Given the description of an element on the screen output the (x, y) to click on. 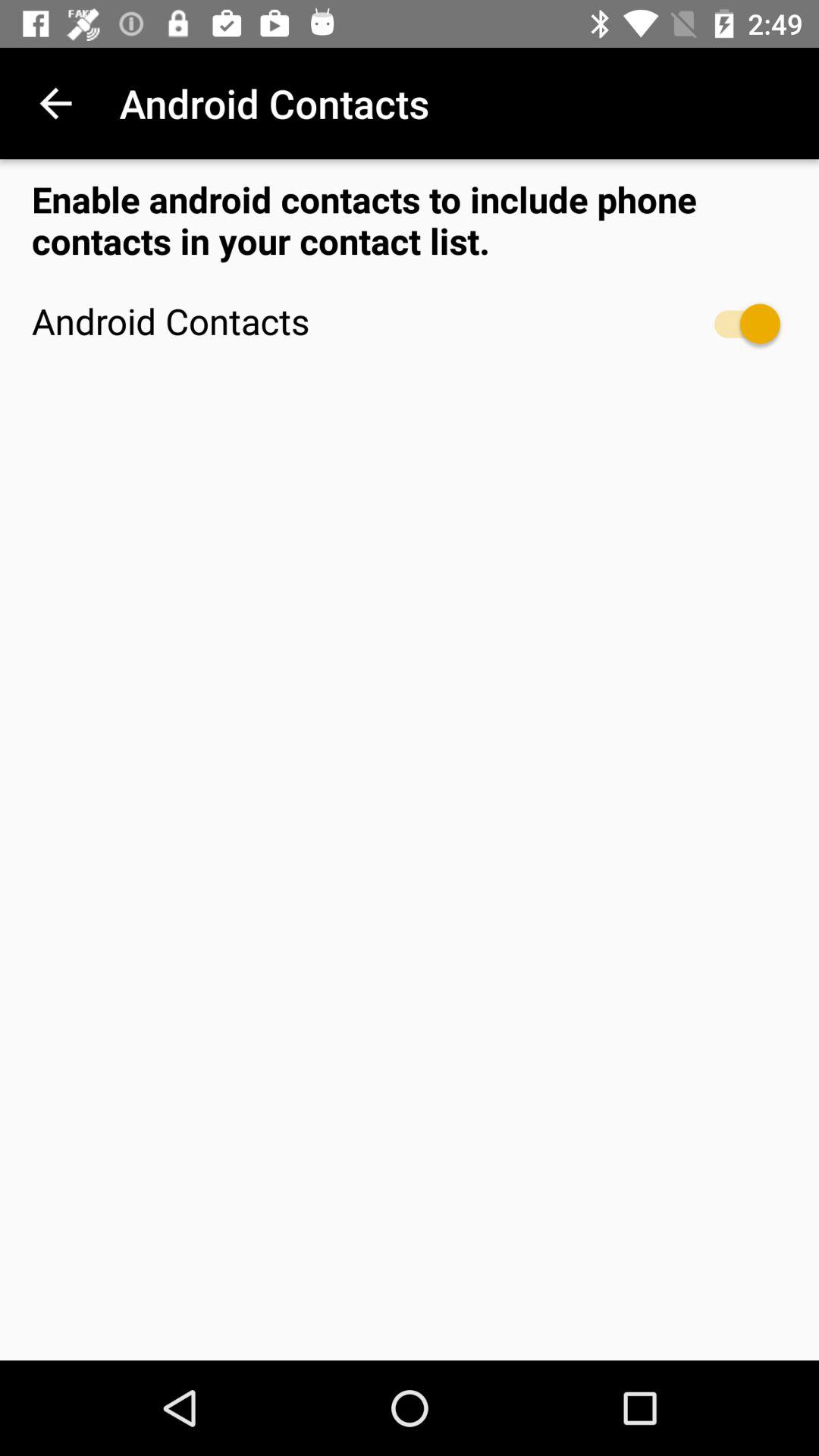
turn on icon to the left of android contacts (55, 103)
